Given the description of an element on the screen output the (x, y) to click on. 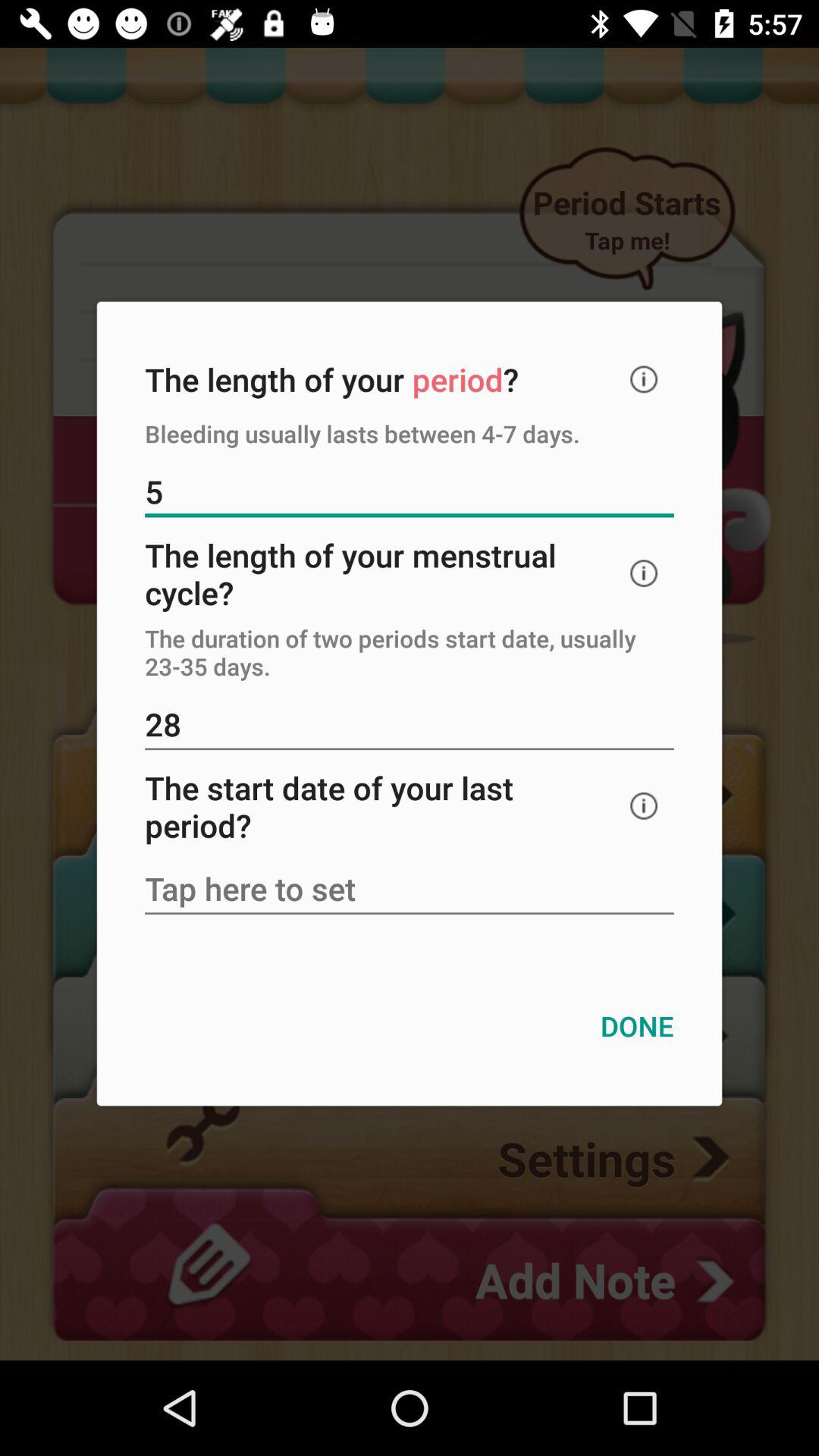
more information (643, 379)
